Given the description of an element on the screen output the (x, y) to click on. 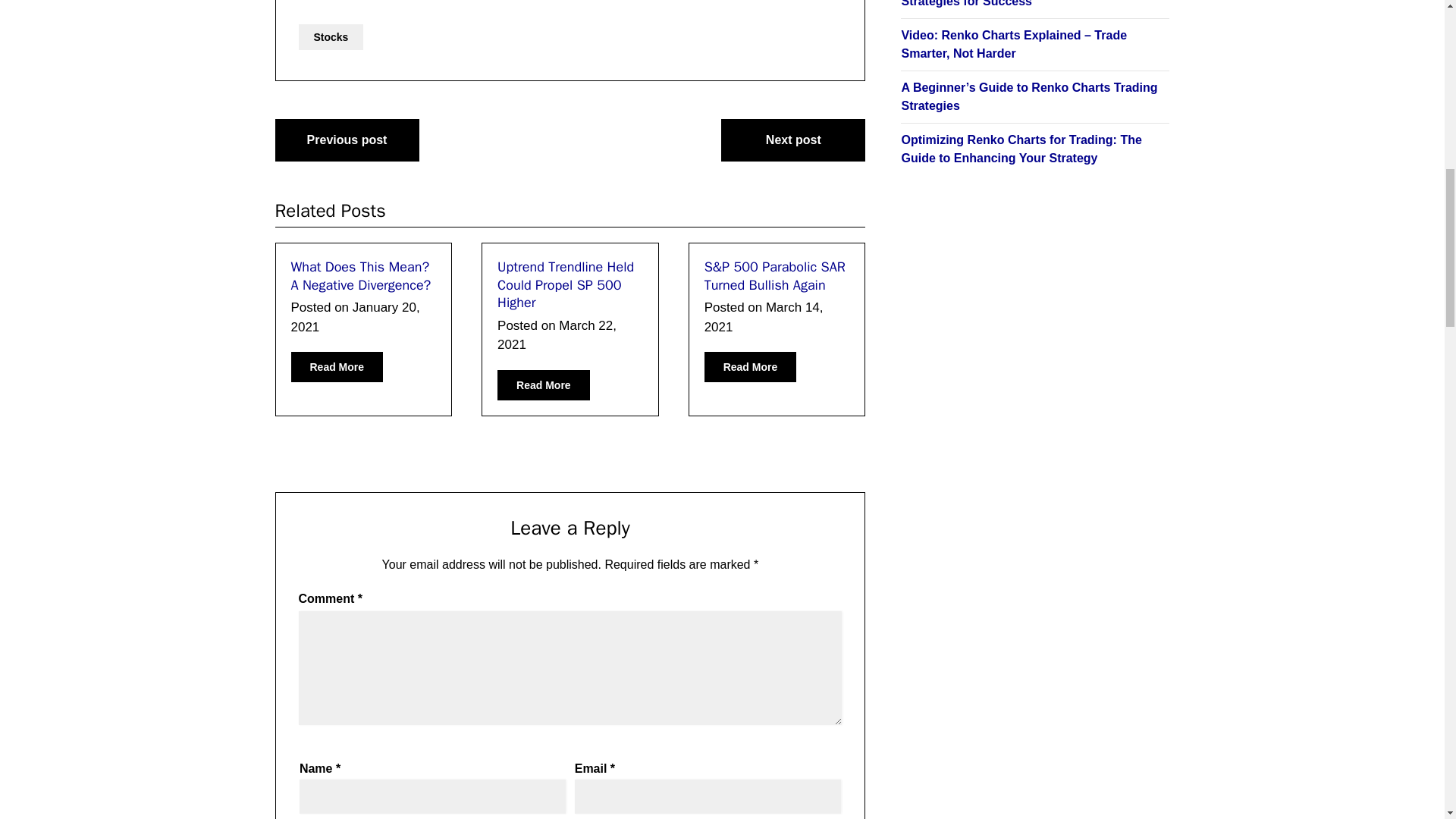
Read More (750, 367)
Previous post (347, 139)
Read More (543, 385)
March 22, 2021 (556, 335)
Next post (792, 139)
Read More (337, 367)
Stocks (331, 36)
March 14, 2021 (764, 317)
What Does This Mean? A Negative Divergence? (360, 275)
Uptrend Trendline Held Could Propel SP 500 Higher (565, 284)
January 20, 2021 (355, 317)
